Given the description of an element on the screen output the (x, y) to click on. 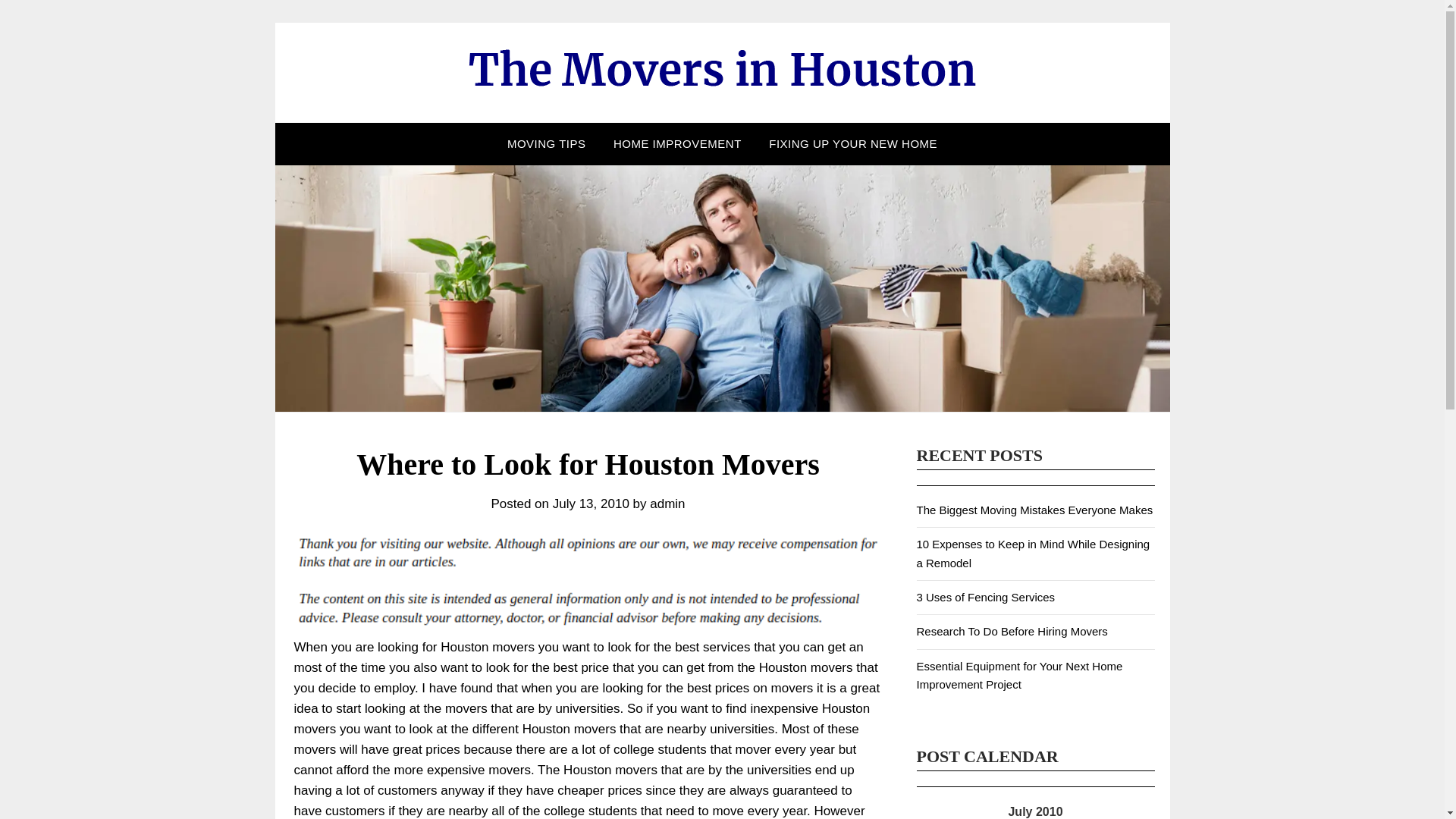
10 Expenses to Keep in Mind While Designing a Remodel (1032, 552)
MOVING TIPS (546, 143)
admin (666, 503)
FIXING UP YOUR NEW HOME (853, 143)
Essential Equipment for Your Next Home Improvement Project (1018, 675)
The Biggest Moving Mistakes Everyone Makes (1034, 509)
HOME IMPROVEMENT (677, 143)
July 13, 2010 (590, 503)
3 Uses of Fencing Services (984, 596)
Research To Do Before Hiring Movers (1010, 631)
